Given the description of an element on the screen output the (x, y) to click on. 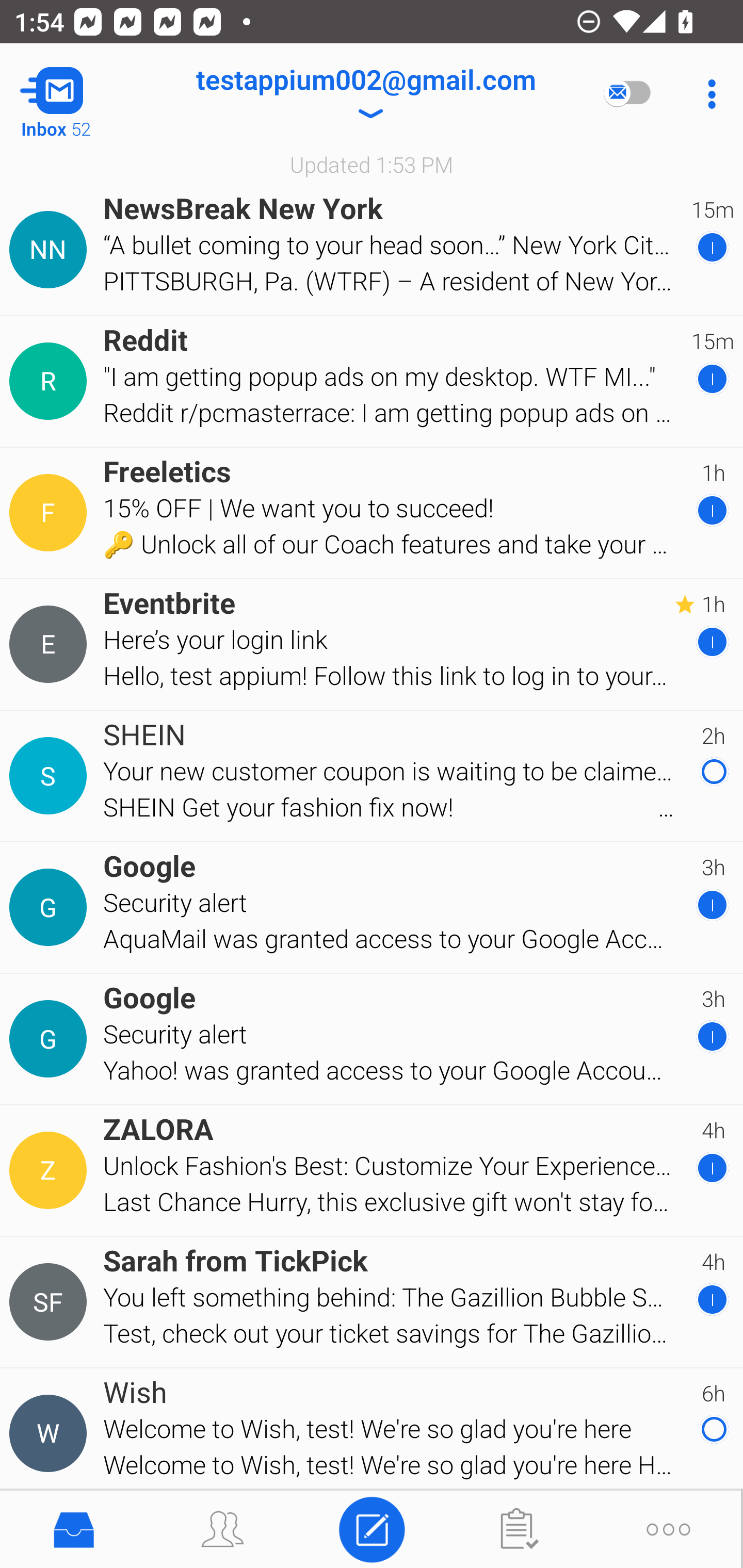
Navigate up (81, 93)
testappium002@gmail.com (365, 93)
More Options (706, 93)
Contact Details (50, 250)
Contact Details (50, 381)
Contact Details (50, 513)
Contact Details (50, 644)
Contact Details (50, 776)
Contact Details (50, 907)
Contact Details (50, 1038)
Contact Details (50, 1170)
Contact Details (50, 1302)
Contact Details (50, 1433)
Compose (371, 1528)
